Given the description of an element on the screen output the (x, y) to click on. 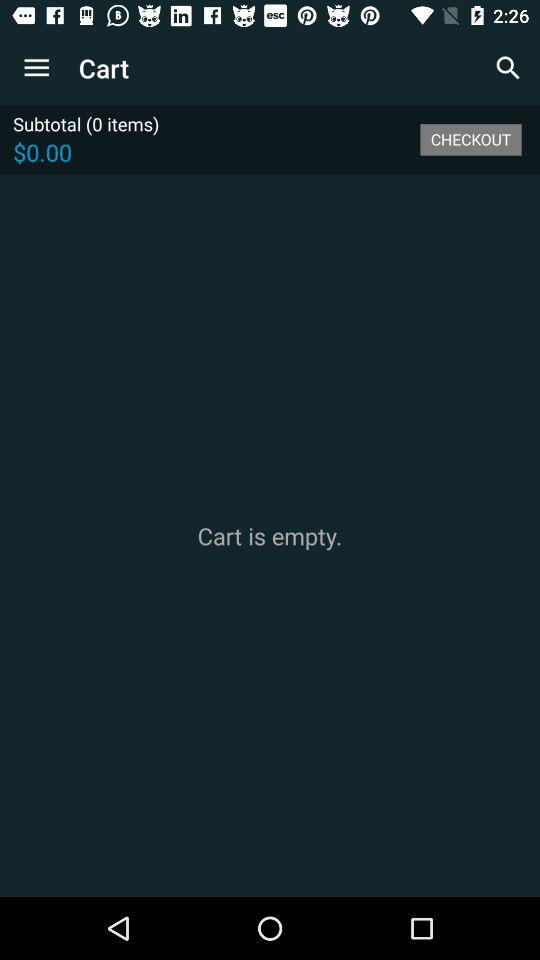
tap the icon next to the subtotal (0 items) icon (470, 139)
